Given the description of an element on the screen output the (x, y) to click on. 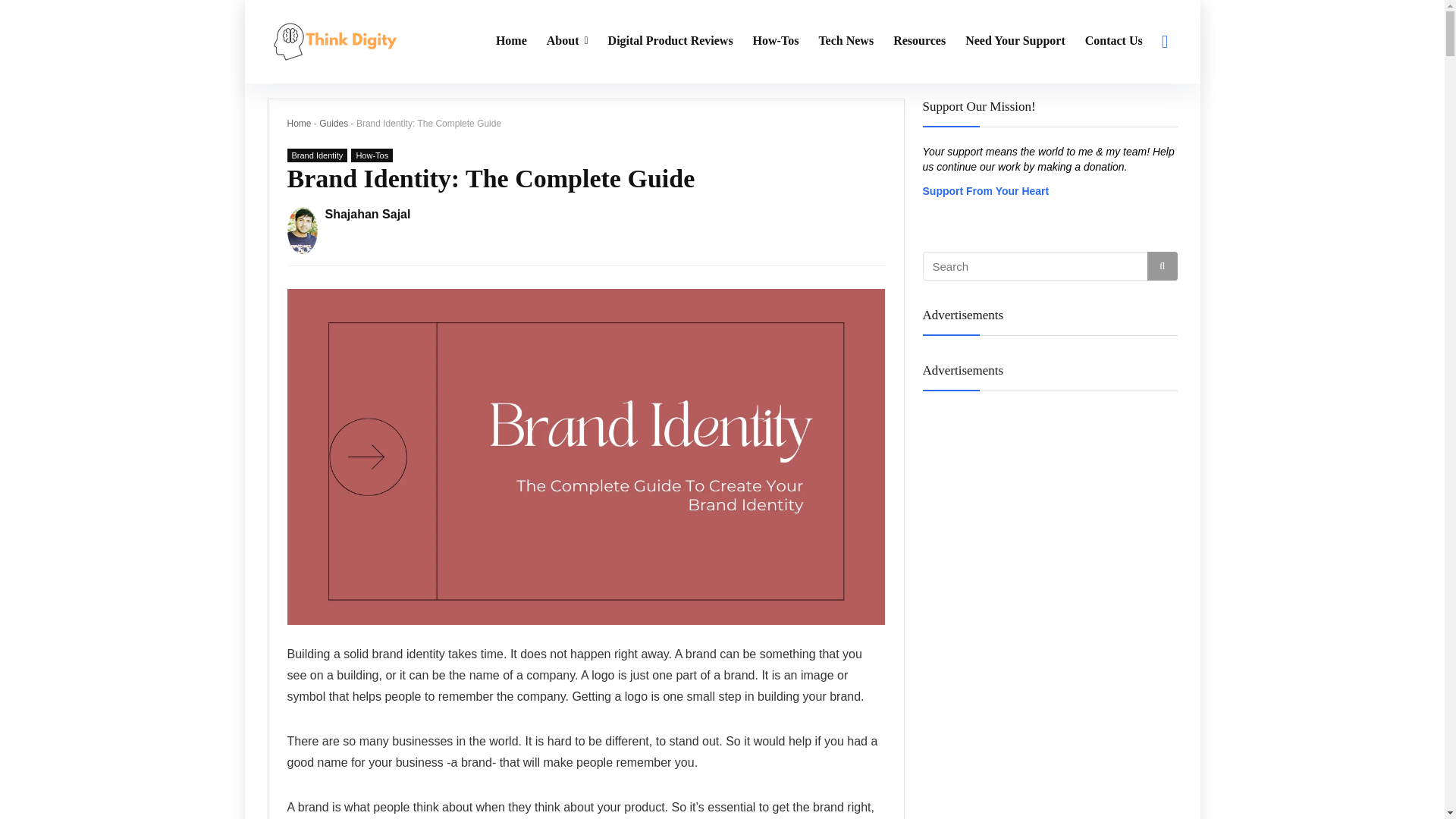
Advertisements (1048, 384)
How-Tos (775, 41)
Contact Us (1114, 41)
Brand Identity (316, 155)
Digital Product Reviews (670, 41)
View all posts in How-Tos (371, 155)
View all posts in Brand Identity (316, 155)
Home (298, 122)
Guides (332, 122)
How-Tos (371, 155)
